Given the description of an element on the screen output the (x, y) to click on. 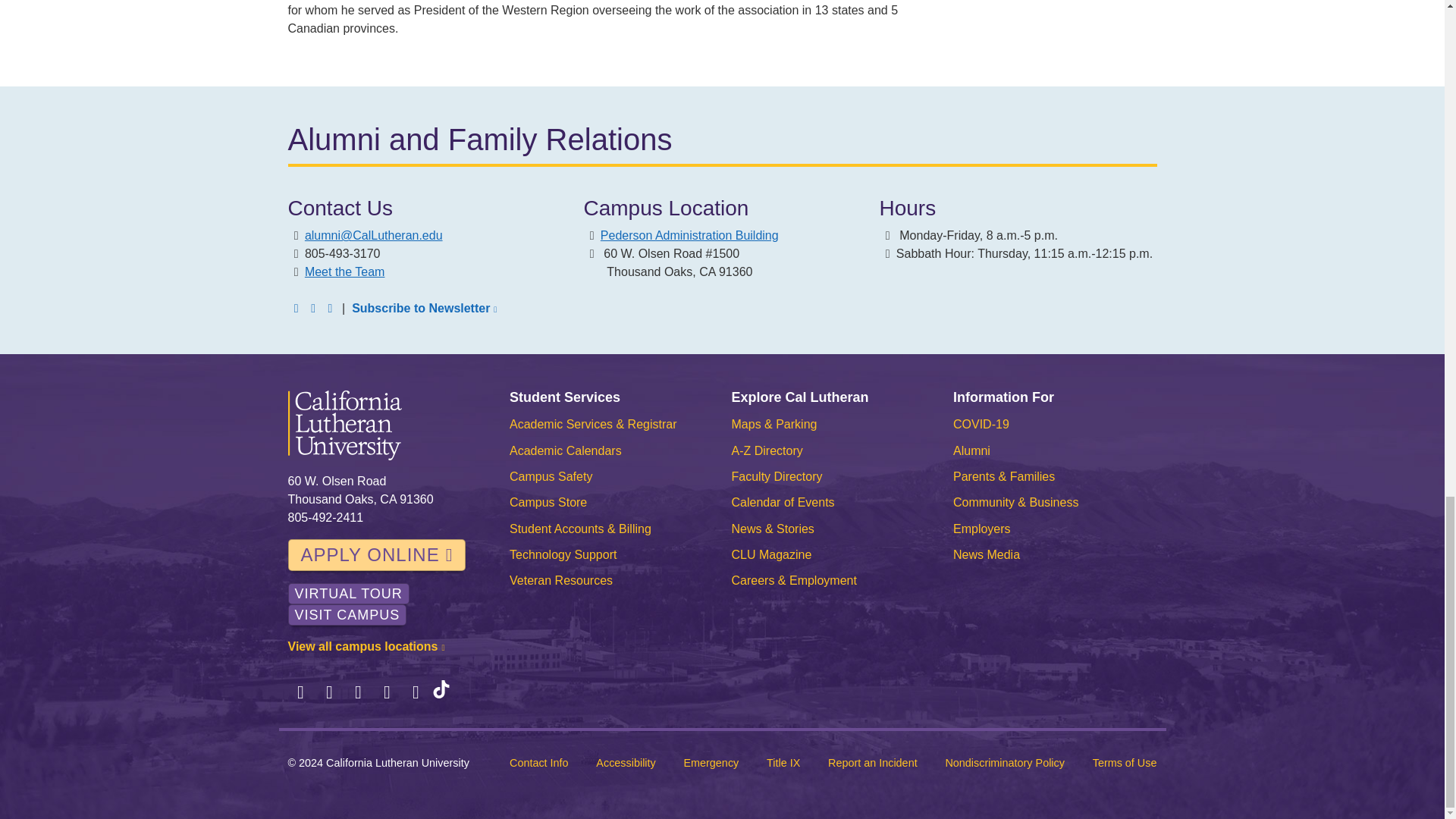
TikTok (440, 691)
Facebook (301, 691)
LinkedIn (312, 308)
LinkedIn (387, 691)
Instagram (329, 308)
YouTube (416, 691)
Facebook (296, 308)
Instagram (358, 691)
